Given the description of an element on the screen output the (x, y) to click on. 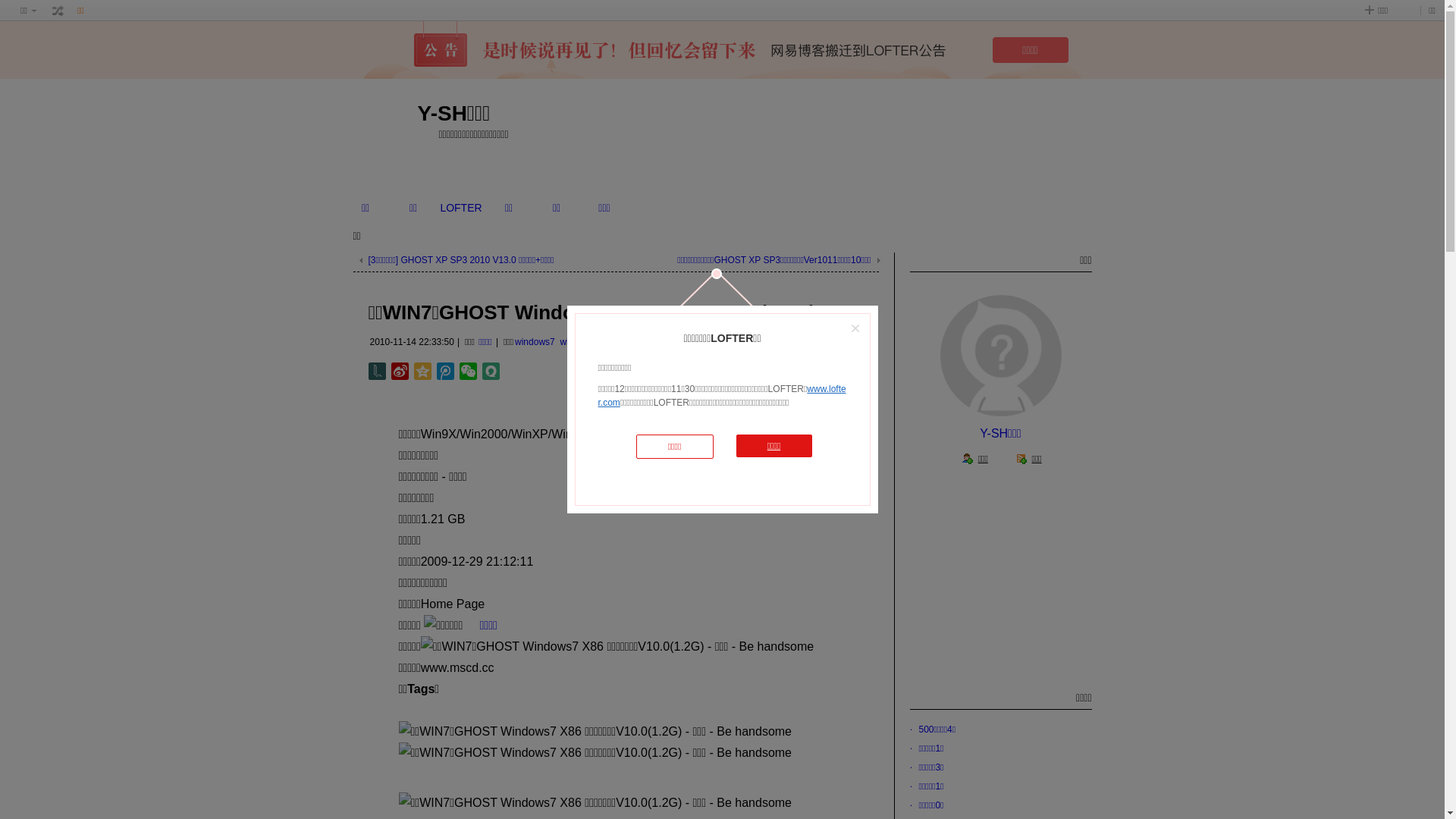
  Element type: text (58, 10)
windows7 Element type: text (534, 341)
win7 Element type: text (568, 341)
www.lofter.com Element type: text (721, 395)
LOFTER Element type: text (460, 207)
v10.0 Element type: text (624, 341)
